Given the description of an element on the screen output the (x, y) to click on. 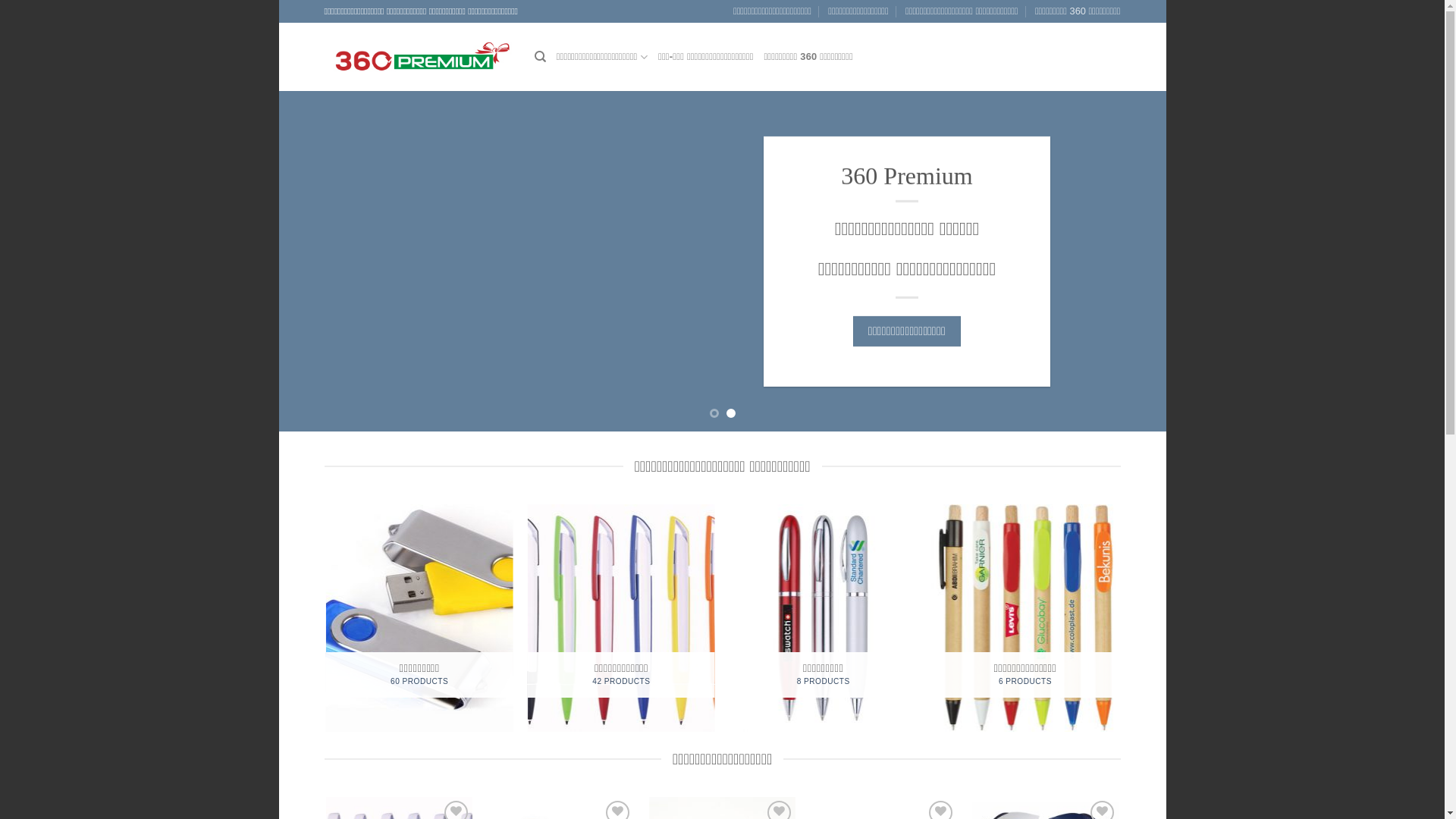
Skip to content Element type: text (279, 0)
